Given the description of an element on the screen output the (x, y) to click on. 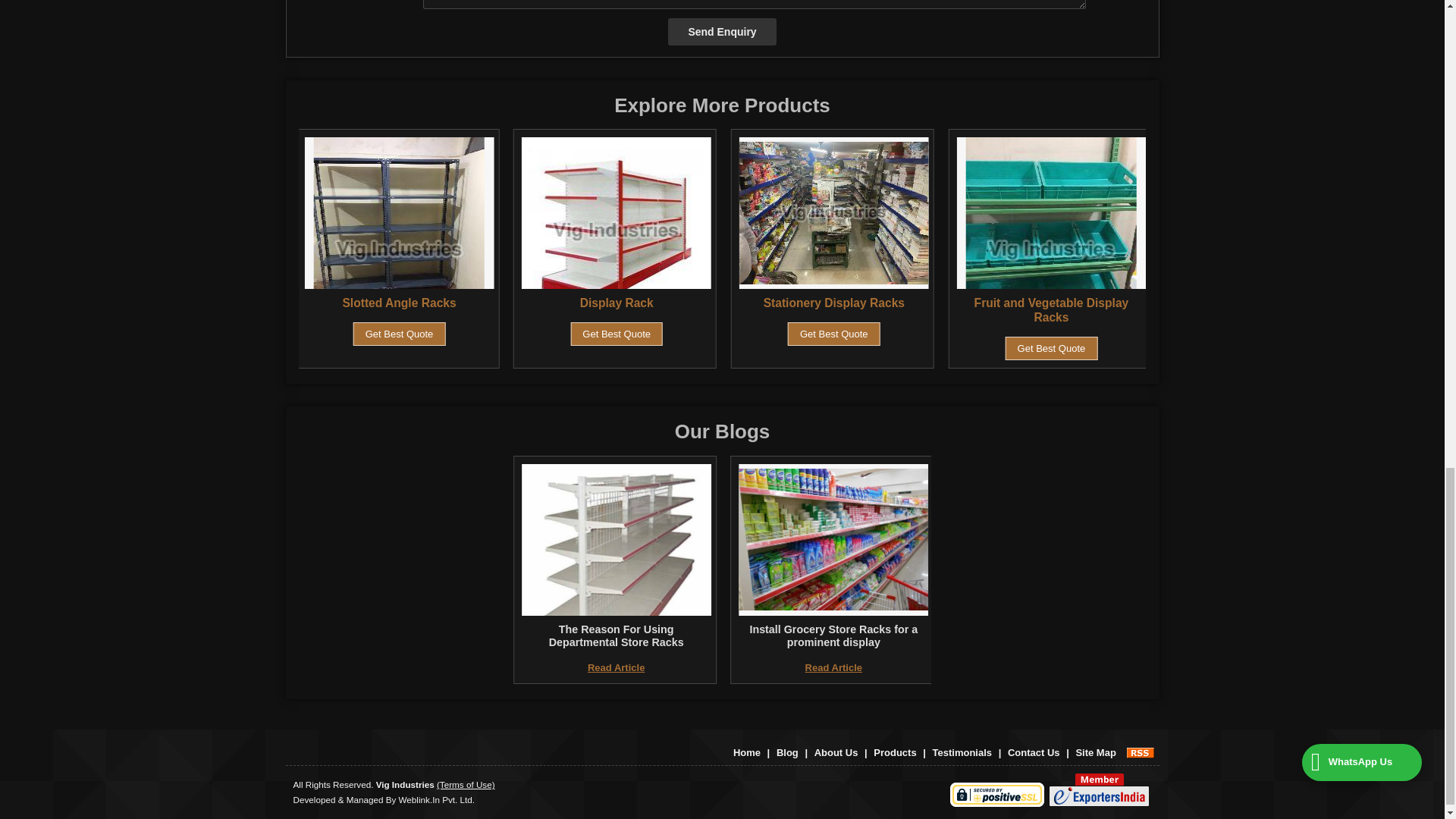
Send Enquiry (722, 31)
